Given the description of an element on the screen output the (x, y) to click on. 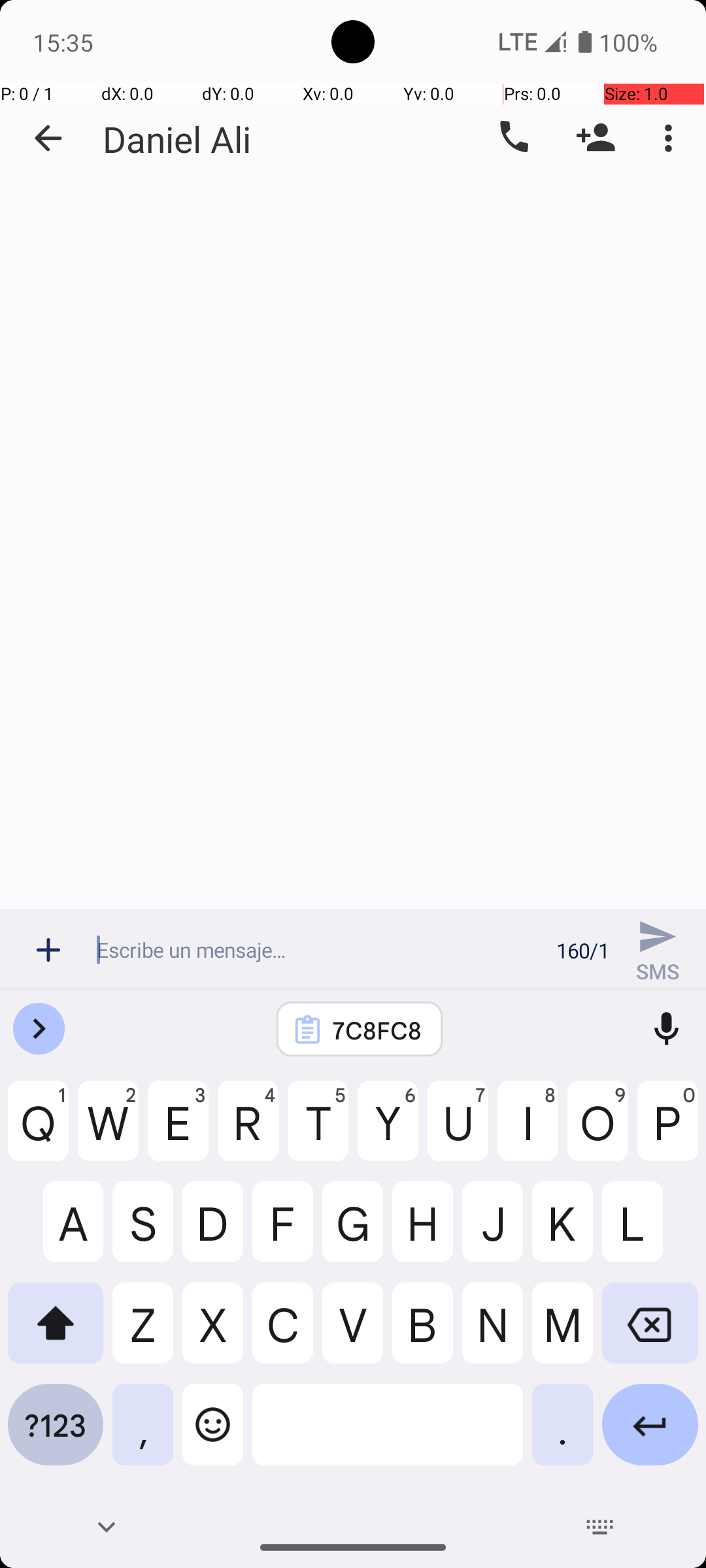
Atrás Element type: android.widget.ImageButton (48, 138)
Daniel Ali Element type: android.widget.TextView (176, 138)
Marcar número Element type: android.widget.Button (512, 137)
Añadir persona Element type: android.widget.Button (595, 137)
Archivo adjunto Element type: android.widget.ImageView (48, 949)
Escribe un mensaje… Element type: android.widget.EditText (318, 949)
160/1 Element type: android.widget.TextView (582, 950)
7C8FC8 Element type: android.widget.TextView (376, 1029)
